Given the description of an element on the screen output the (x, y) to click on. 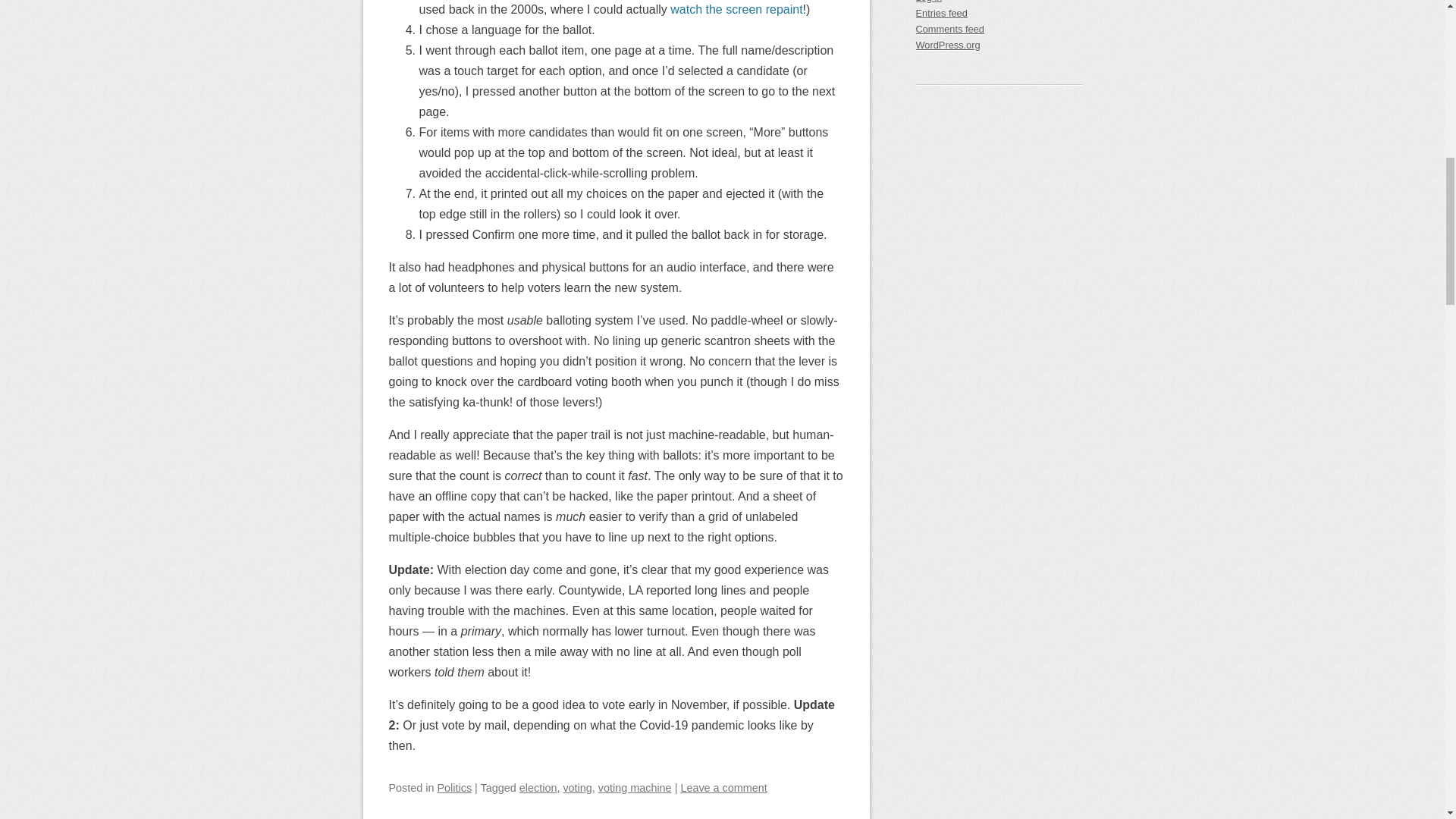
Leave a comment (723, 787)
voting machine (634, 787)
election (538, 787)
watch the screen repaint (735, 9)
Politics (454, 787)
voting (576, 787)
